Given the description of an element on the screen output the (x, y) to click on. 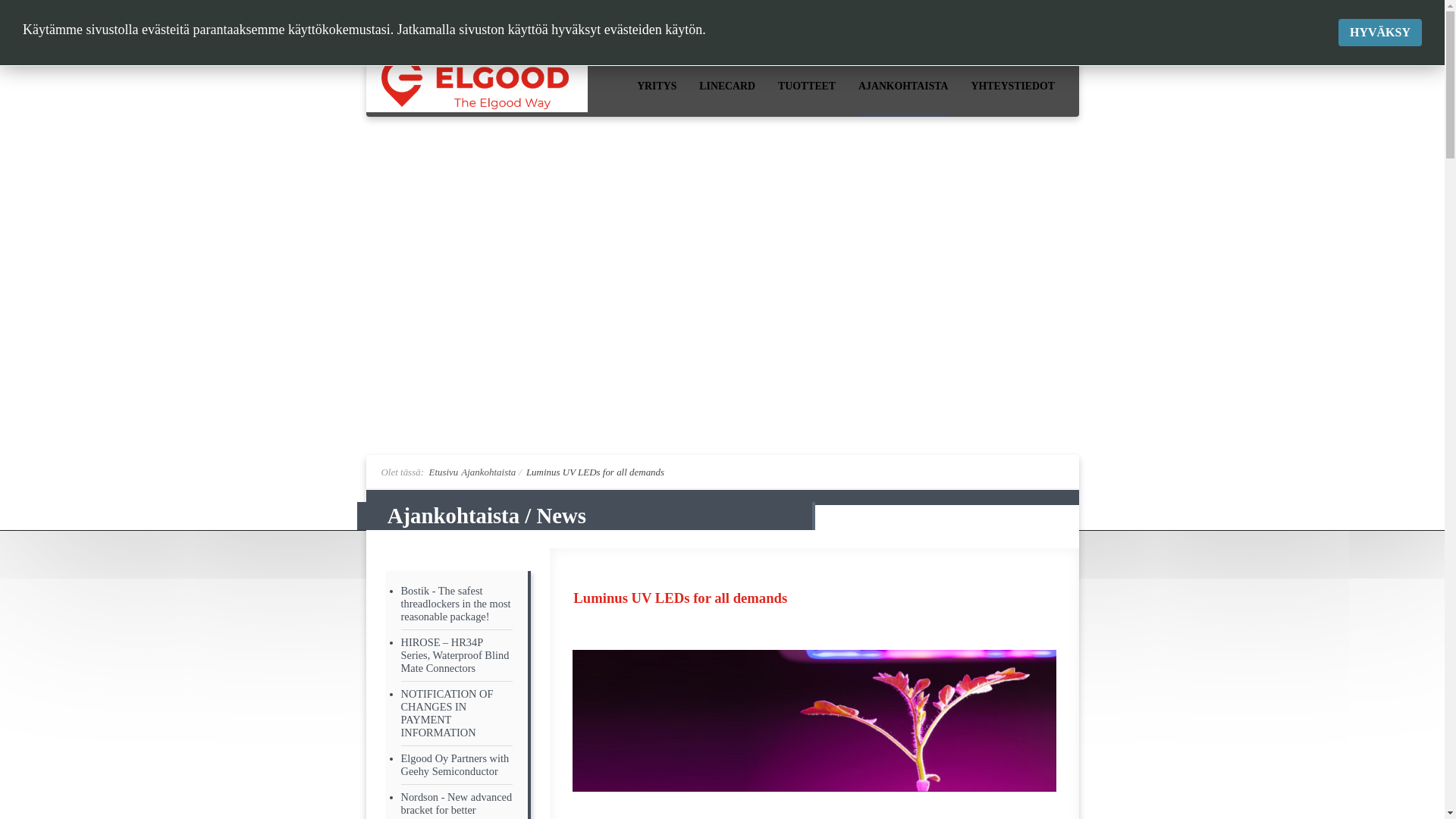
TUOTTEET (806, 88)
LINECARD (726, 88)
AJANKOHTAISTA (903, 88)
